Given the description of an element on the screen output the (x, y) to click on. 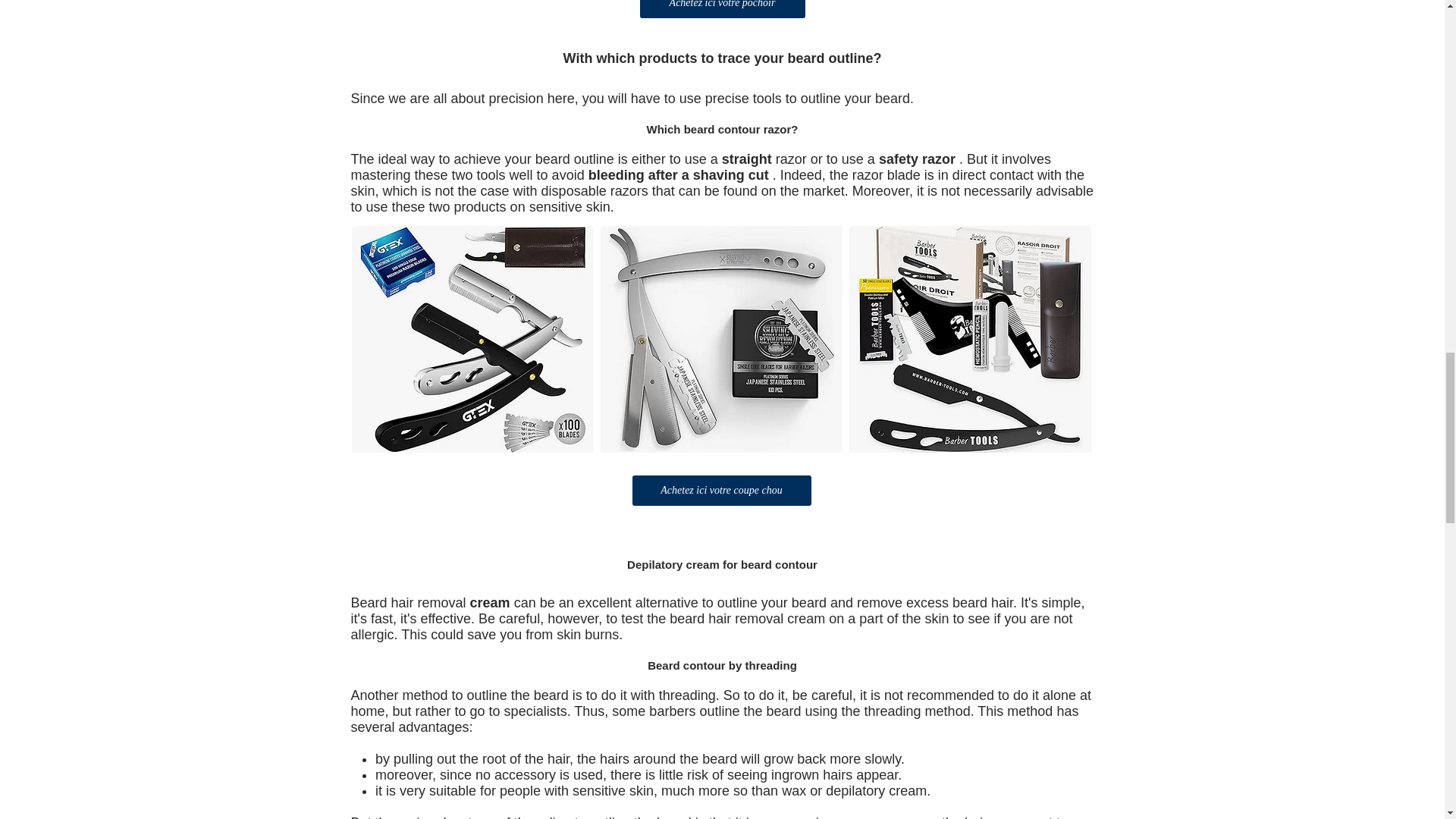
cream (490, 602)
Achetez ici votre pochoir (722, 9)
straight (746, 159)
safety razor (917, 159)
Achetez ici votre coupe chou (720, 490)
bleeding after a shaving cut (678, 174)
